Given the description of an element on the screen output the (x, y) to click on. 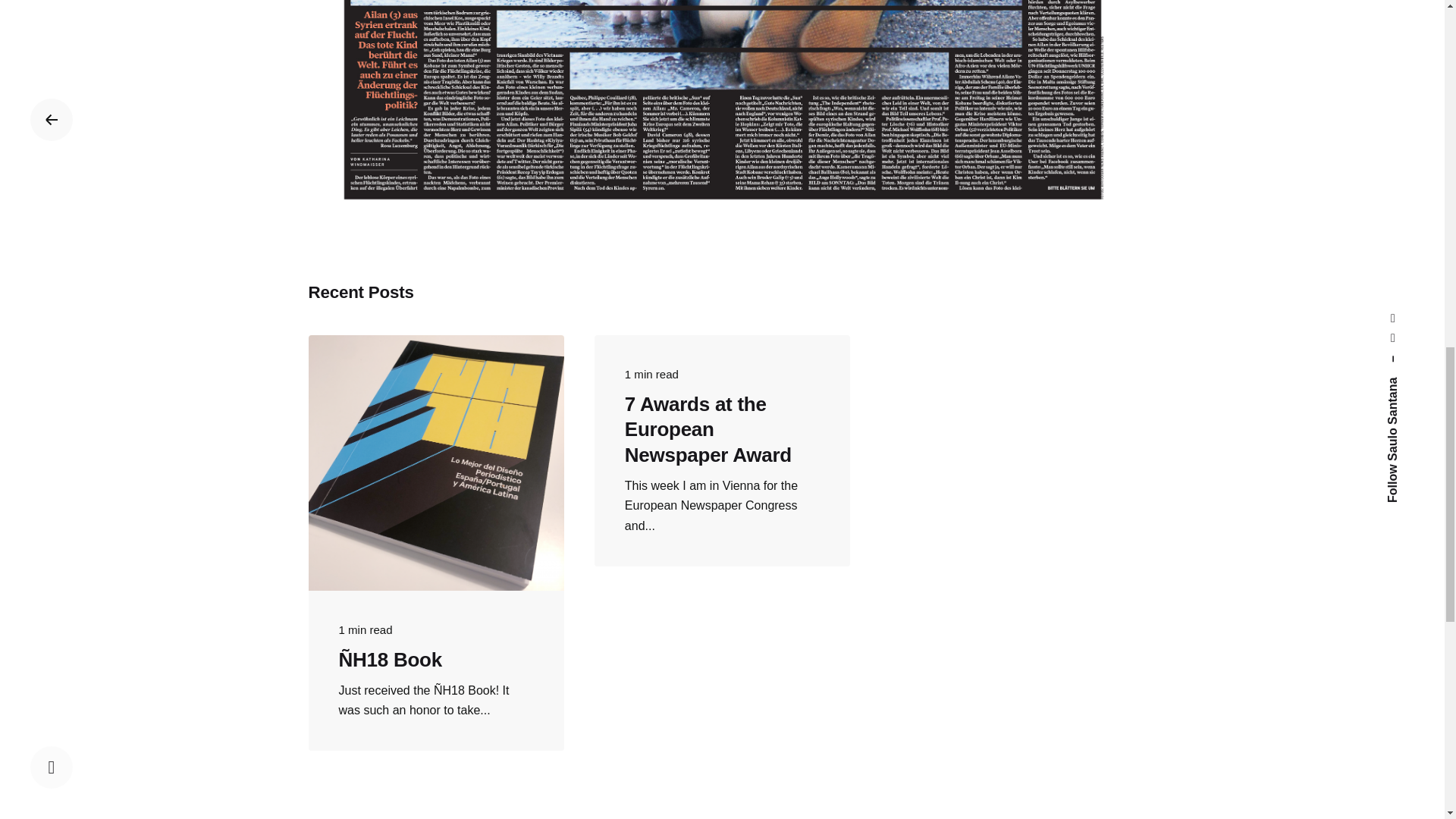
7 Awards at the European Newspaper Award (708, 429)
